Given the description of an element on the screen output the (x, y) to click on. 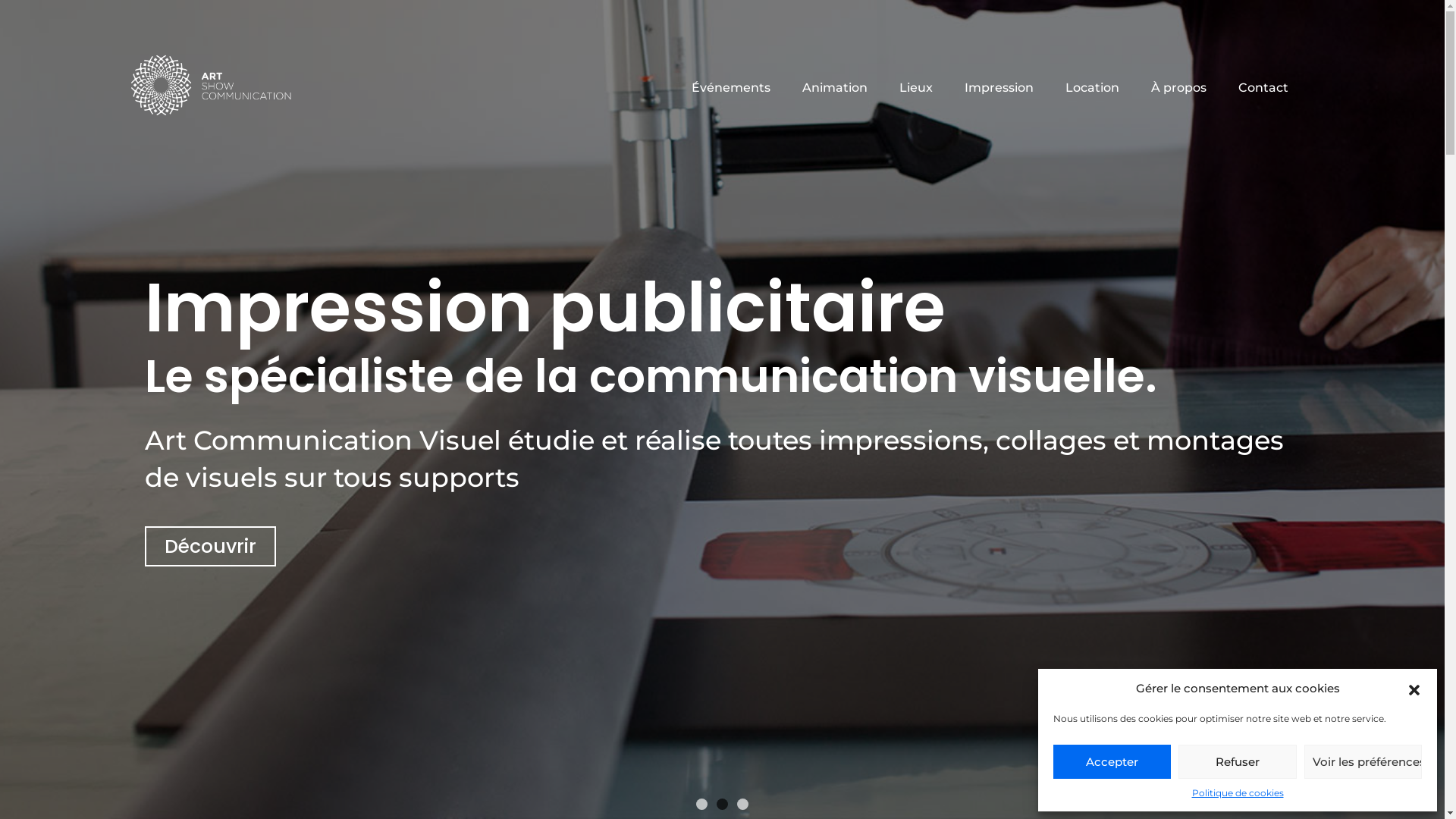
Politique de cookies Element type: text (1237, 793)
Art Show Communication Element type: text (369, 139)
Art Show Communication Element type: hover (209, 85)
Lieux Element type: text (914, 87)
Impression Element type: text (997, 87)
Contact Element type: text (1255, 87)
Refuser Element type: text (1236, 761)
Location Element type: text (1092, 87)
Accepter Element type: text (1111, 761)
Animation Element type: text (833, 87)
